Given the description of an element on the screen output the (x, y) to click on. 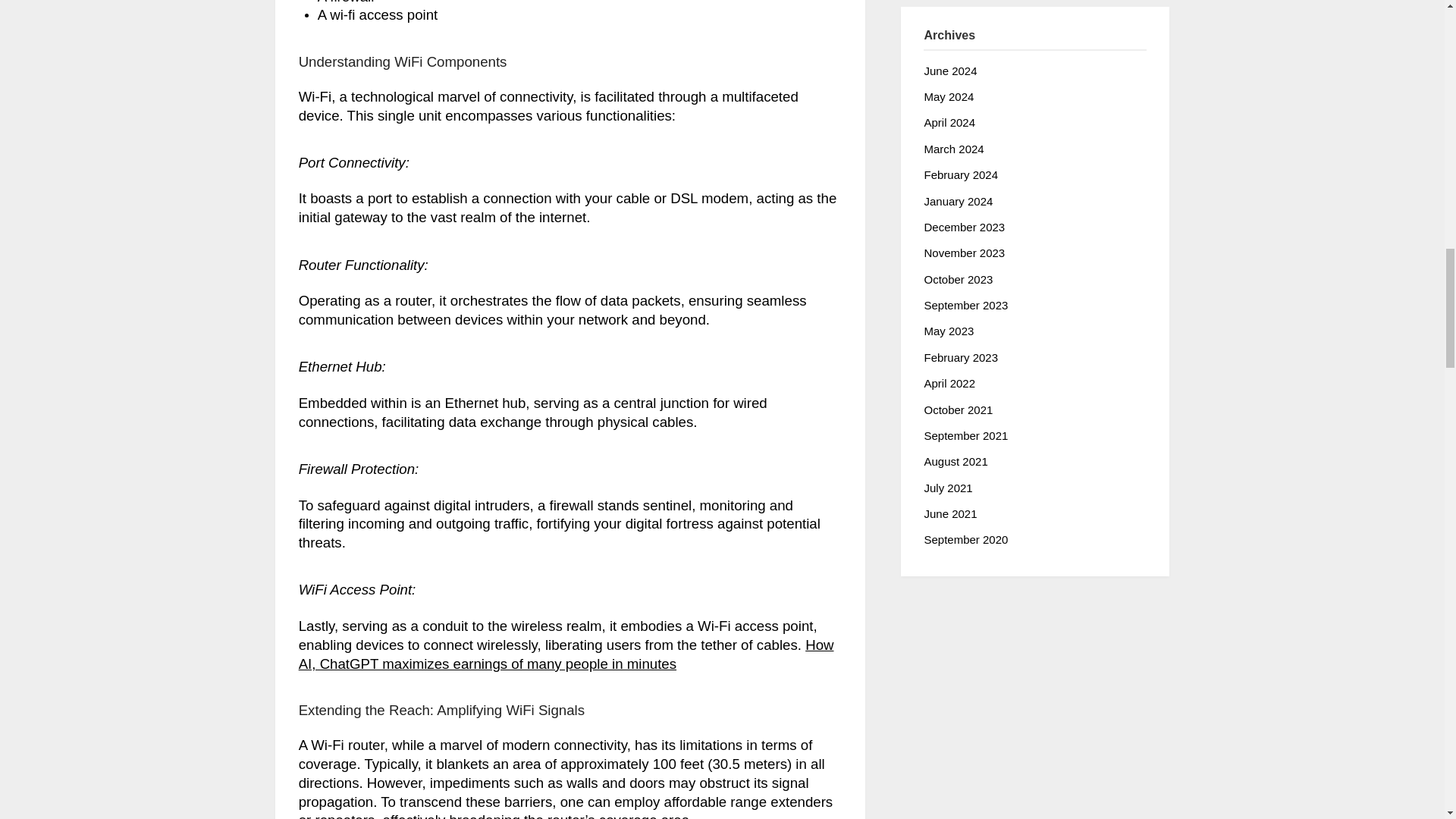
How AI, ChatGPT maximizes earnings of many people in minutes (566, 654)
